Given the description of an element on the screen output the (x, y) to click on. 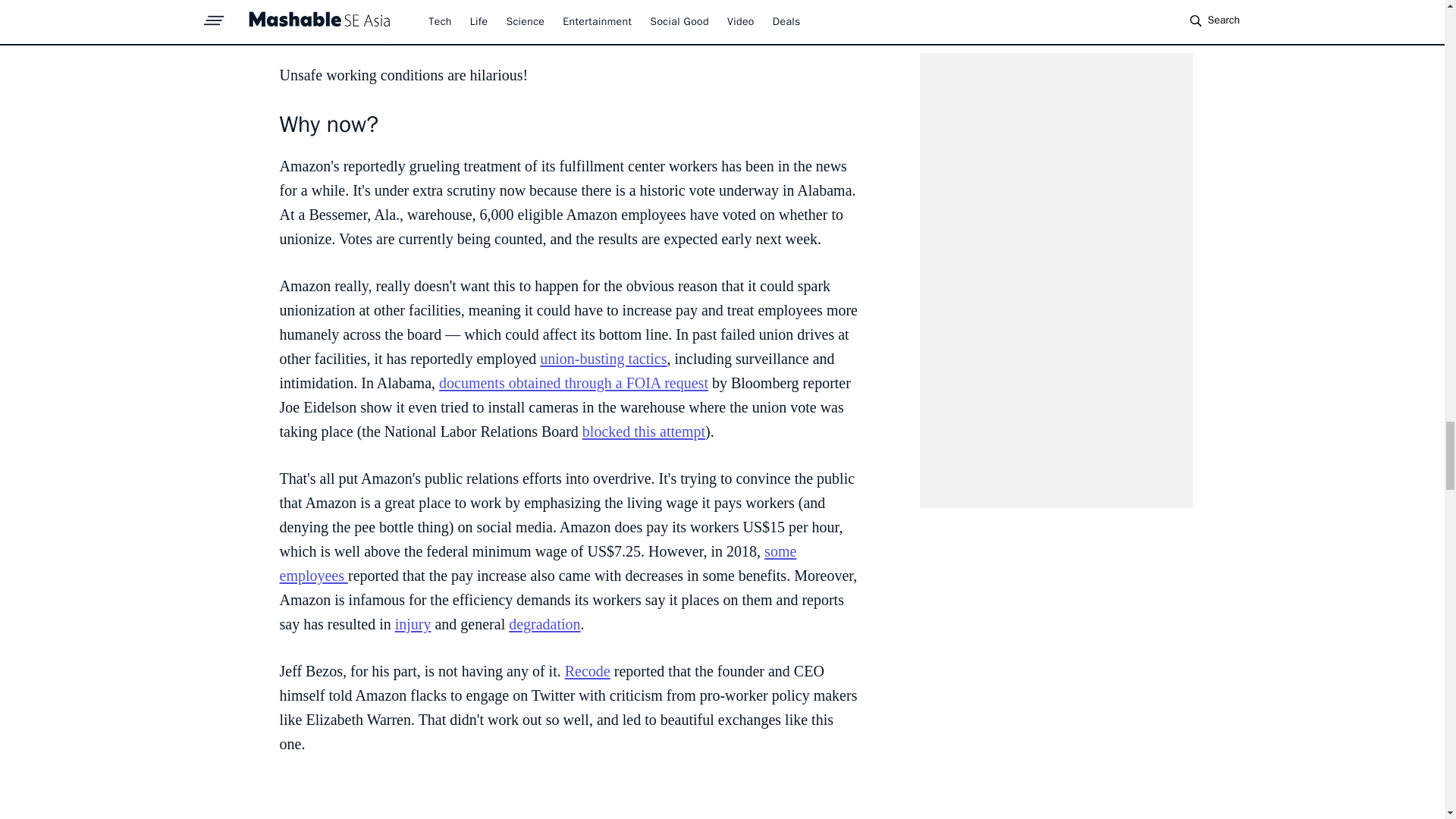
Twitter Tweet (570, 798)
union-busting tactics (603, 358)
